Given the description of an element on the screen output the (x, y) to click on. 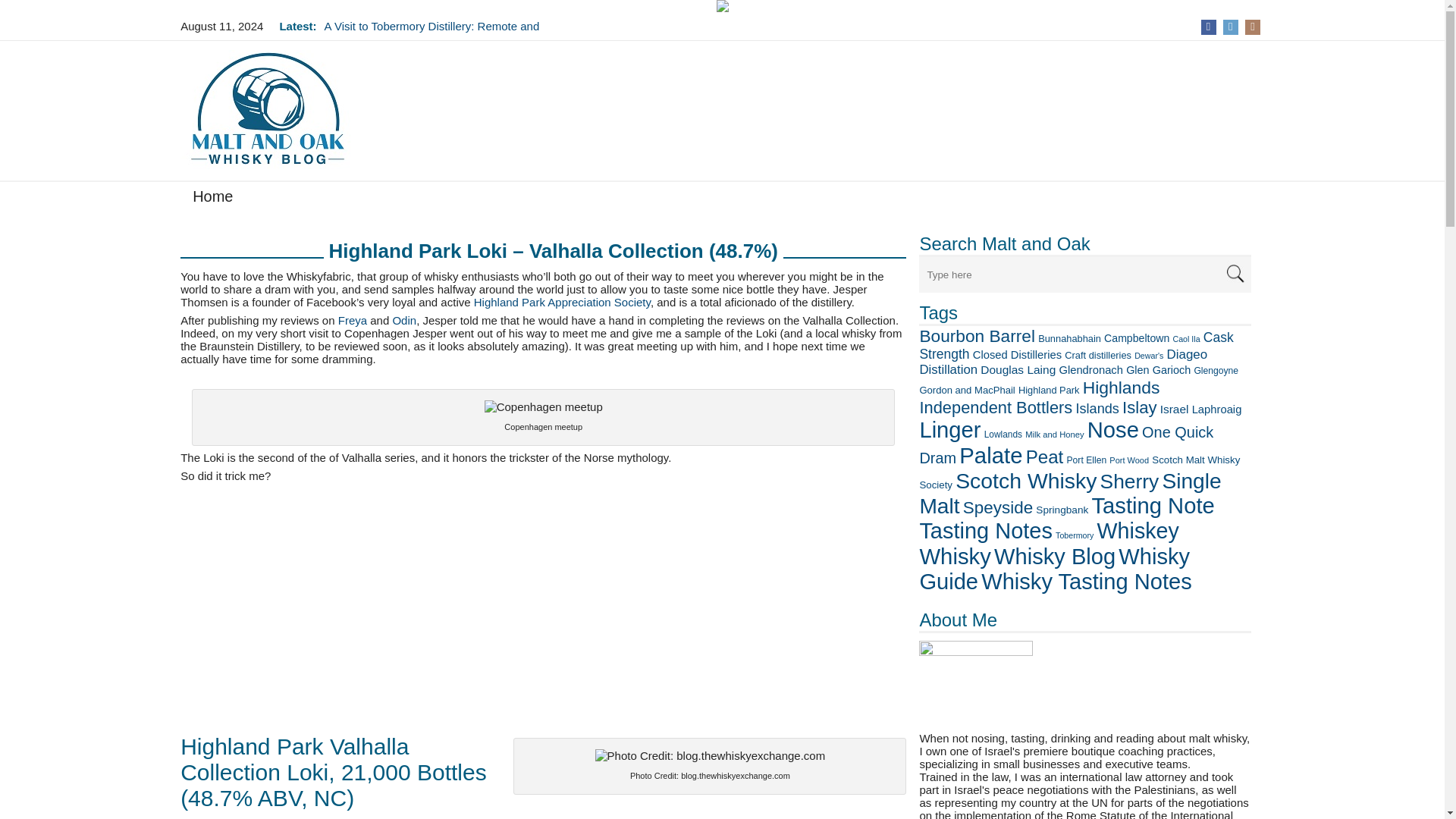
Douglas Laing (1017, 369)
Cask Strength (1075, 345)
Distillation (947, 369)
Glengoyne (1216, 370)
Glen Garioch (1158, 369)
Bunnahabhain (1069, 337)
Glendronach (1090, 369)
Bourbon Barrel (976, 335)
Dewar's (1148, 355)
